Given the description of an element on the screen output the (x, y) to click on. 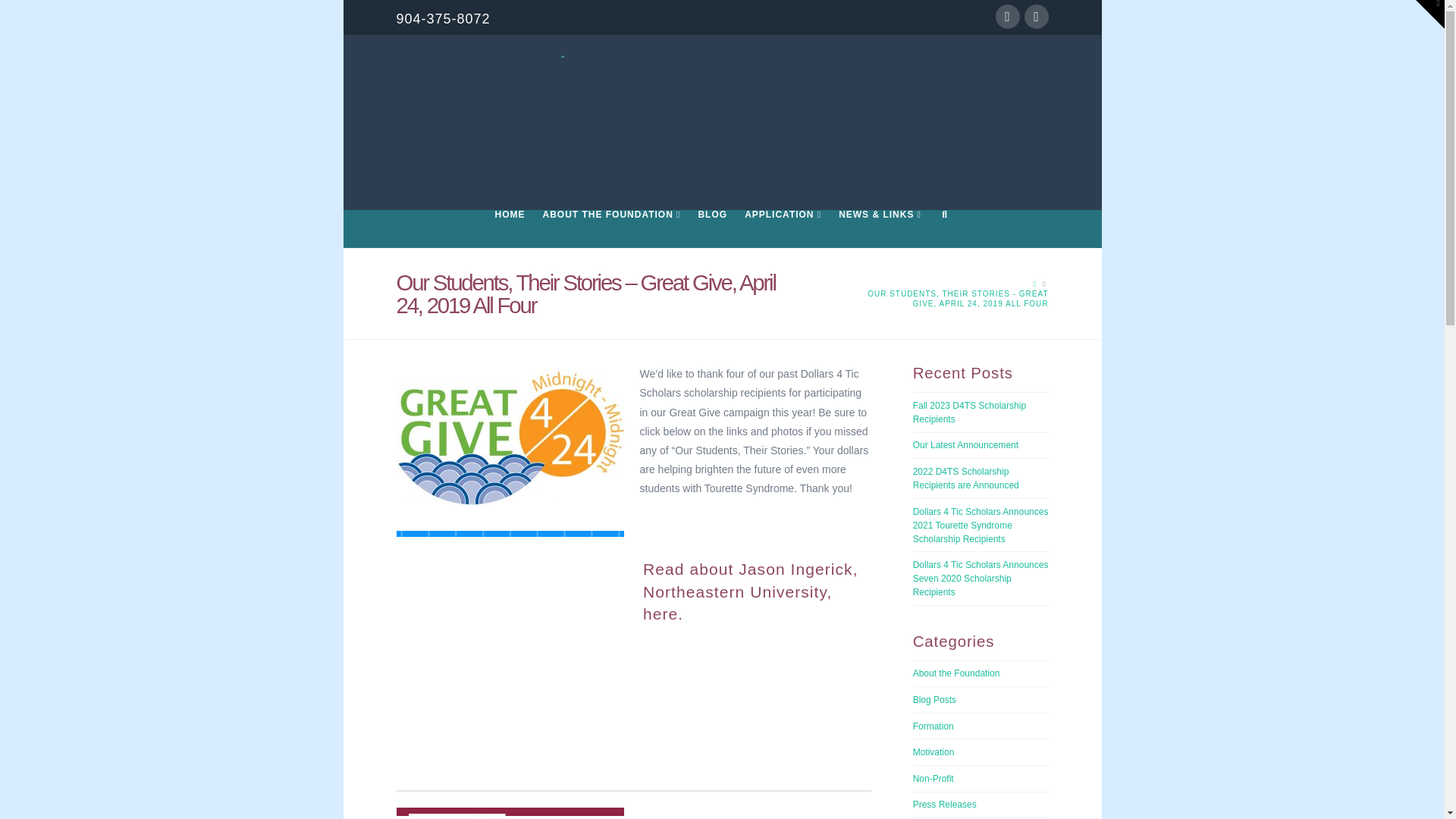
Instagram (1035, 16)
APPLICATION (782, 228)
HOME (508, 228)
Facebook (1006, 16)
You Are Here (949, 298)
ABOUT THE FOUNDATION (611, 228)
BLOG (711, 228)
